Given the description of an element on the screen output the (x, y) to click on. 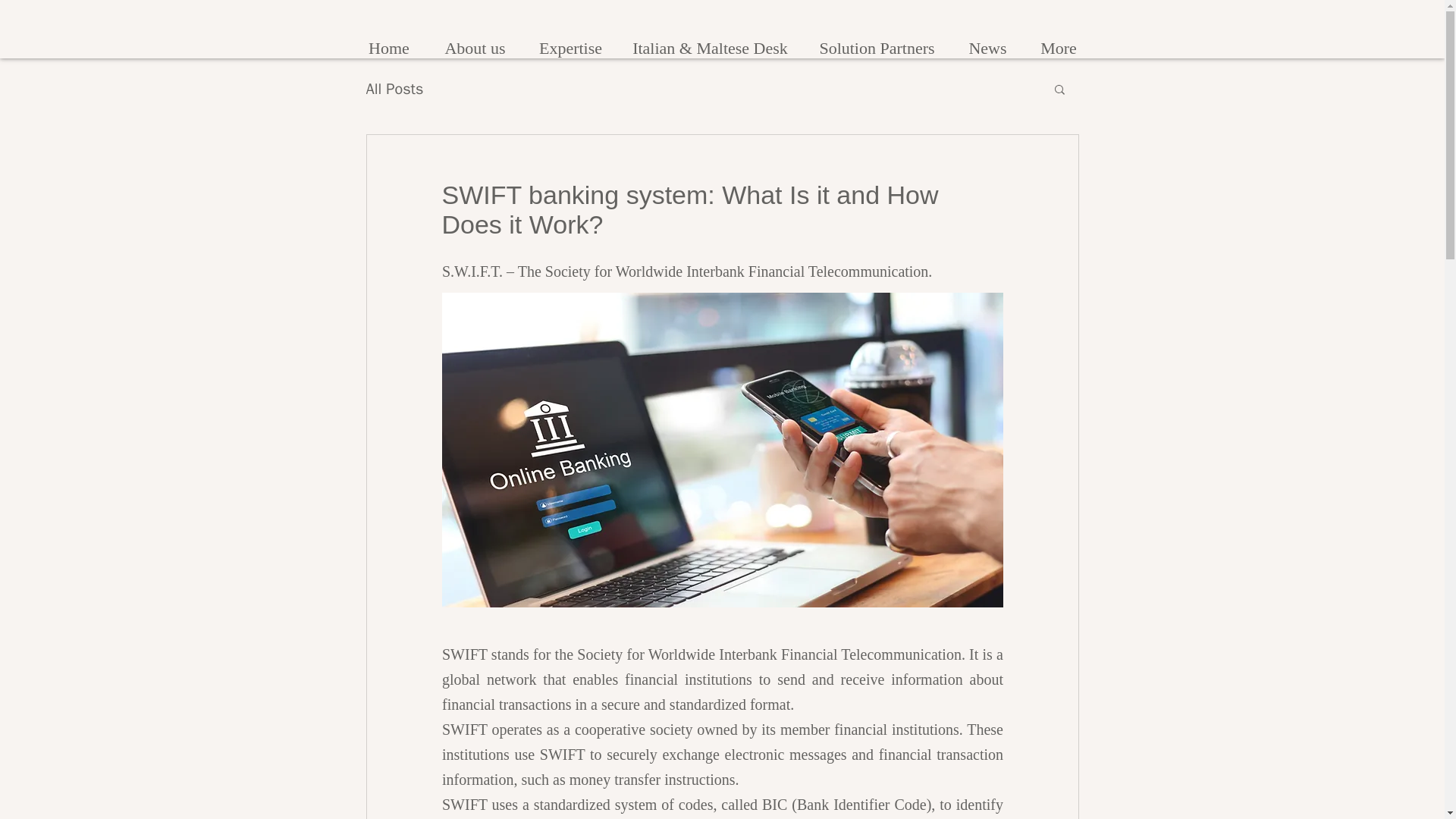
About us (475, 41)
All Posts (394, 88)
Home (388, 41)
Solution Partners (877, 41)
Expertise (570, 41)
News (987, 41)
